Given the description of an element on the screen output the (x, y) to click on. 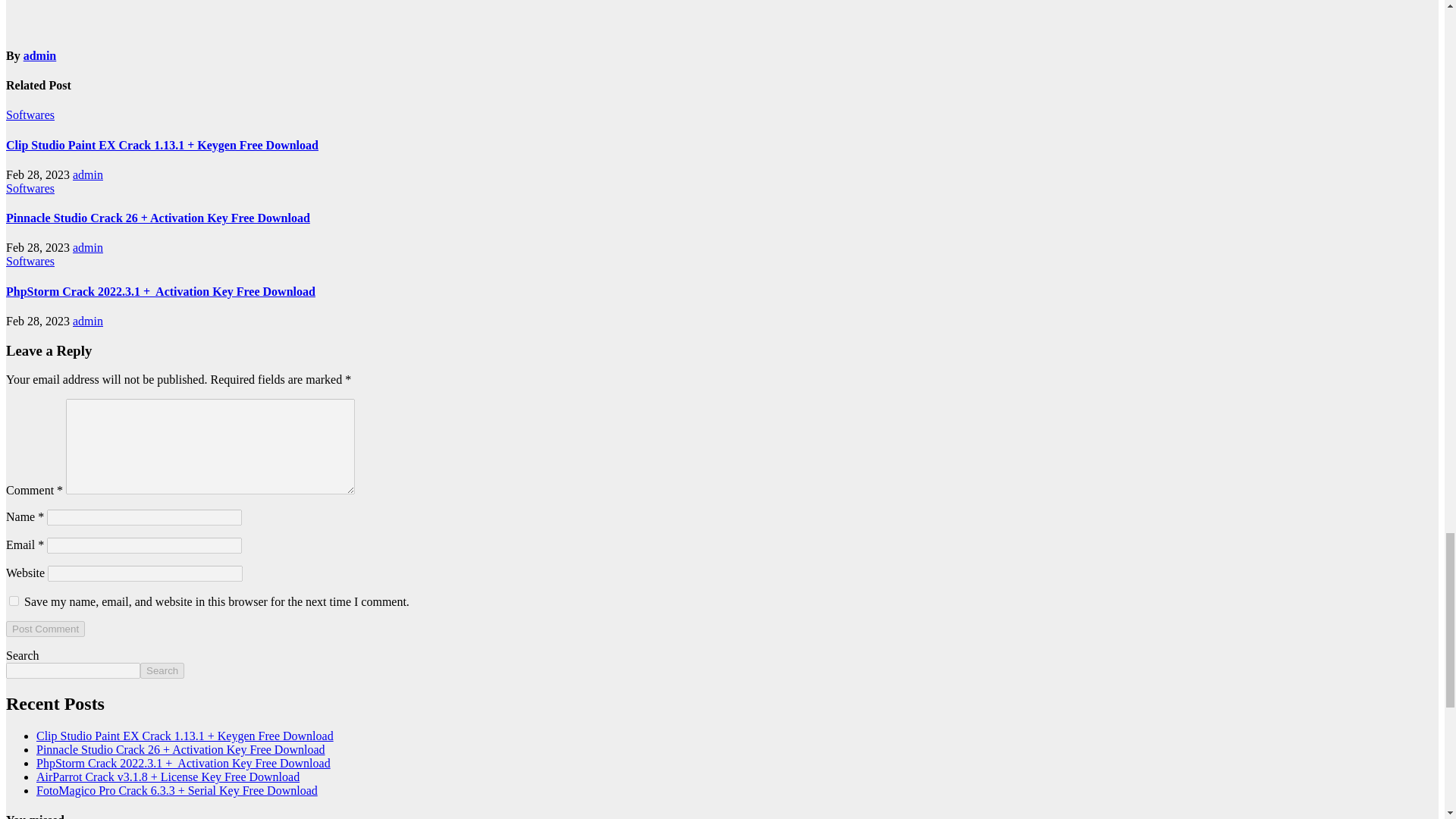
admin (39, 55)
Post Comment (44, 628)
yes (13, 601)
Softwares (30, 114)
